Given the description of an element on the screen output the (x, y) to click on. 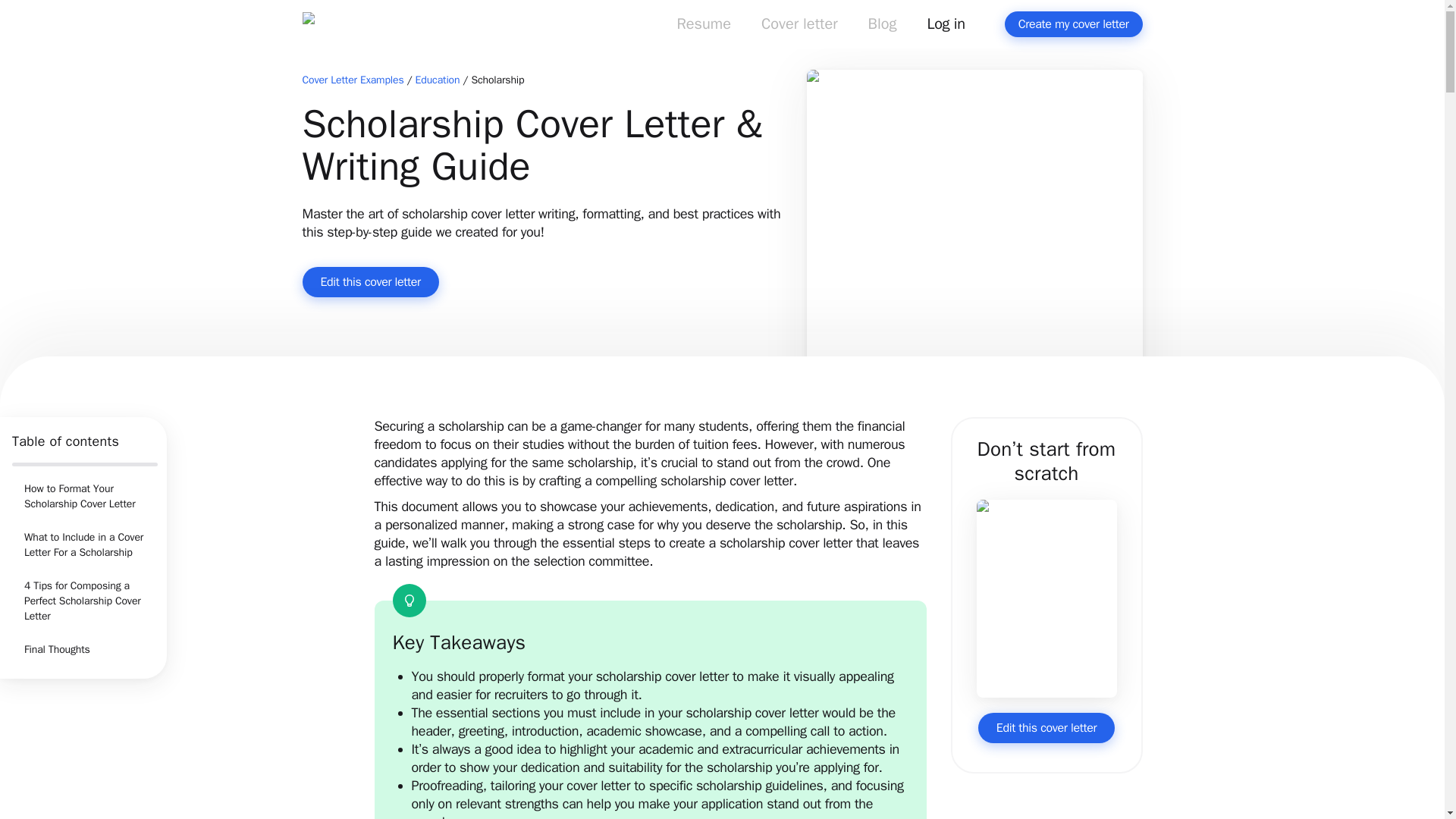
Cover Letter Examples (352, 79)
Log in (945, 26)
Create my cover letter (1073, 23)
Blog (882, 26)
Edit this cover letter (1046, 727)
Resume (703, 26)
Edit this cover letter (369, 281)
Education (437, 79)
Cover letter (799, 26)
